Given the description of an element on the screen output the (x, y) to click on. 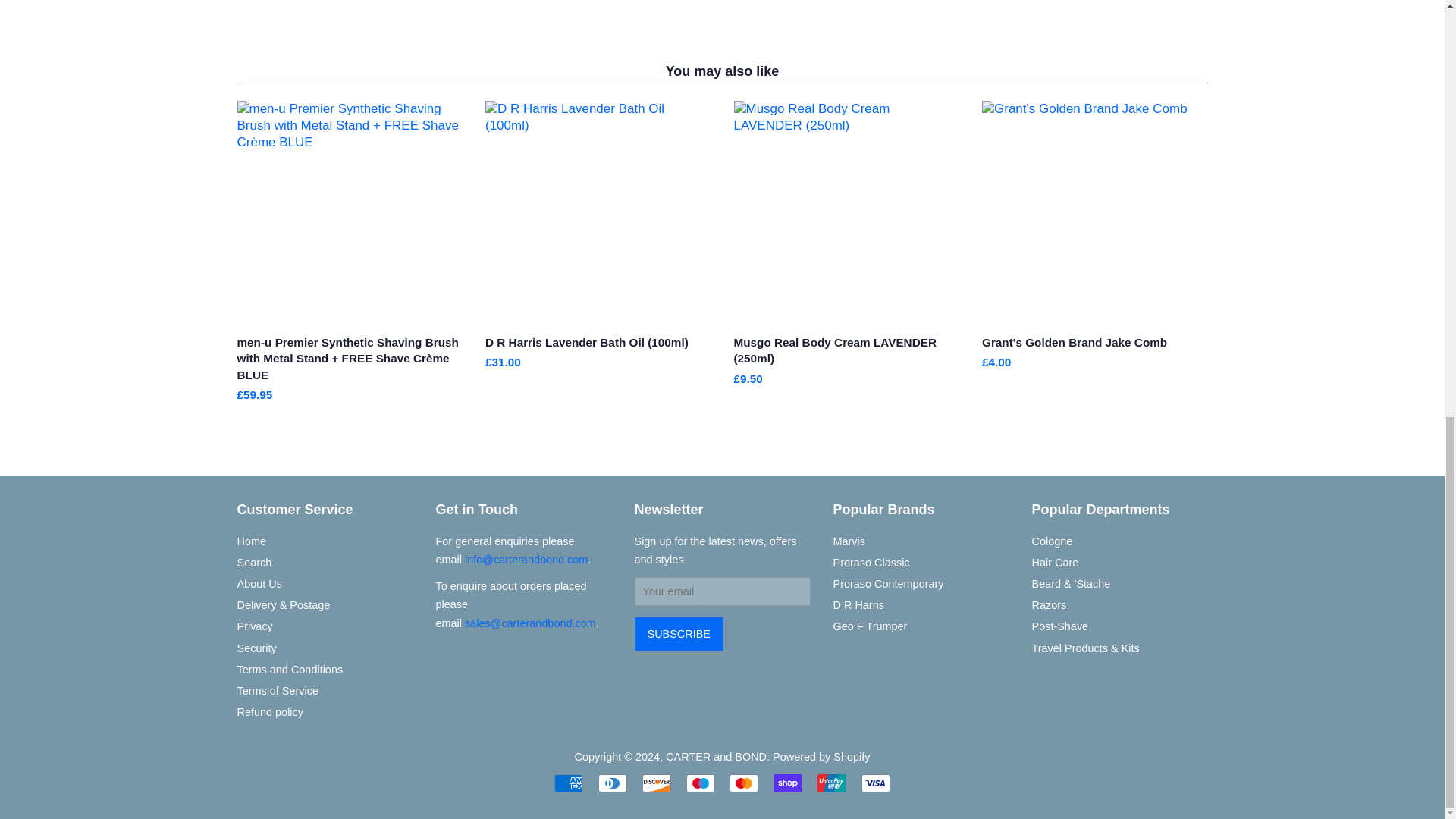
Shop Pay (787, 782)
Maestro (699, 782)
Union Pay (830, 782)
Visa (875, 782)
American Express (568, 782)
Subscribe (677, 633)
Diners Club (612, 782)
Mastercard (743, 782)
Discover (656, 782)
